Given the description of an element on the screen output the (x, y) to click on. 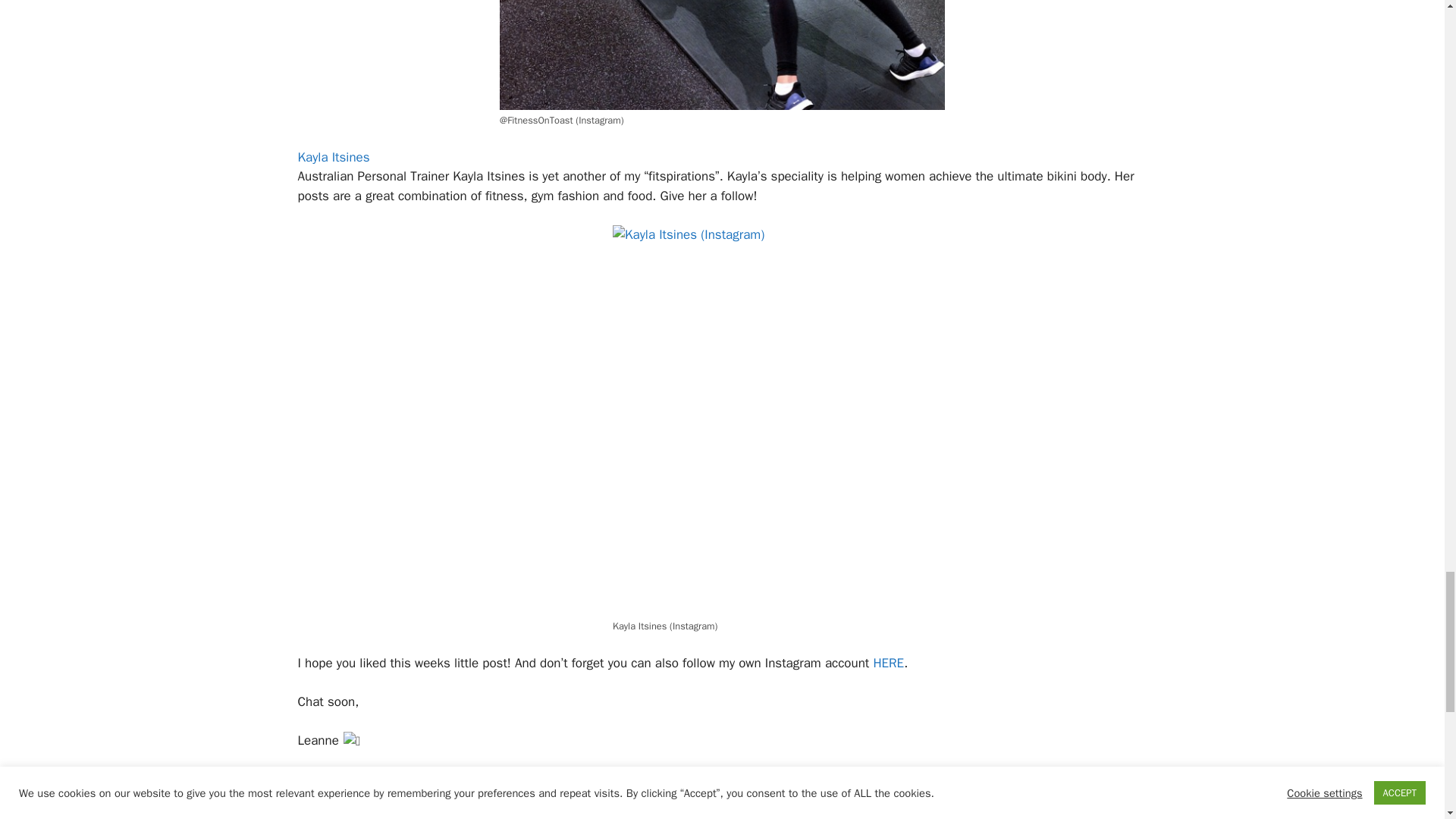
Click to print (430, 809)
Click to share on Twitter (339, 809)
Click to email a link to a friend (400, 809)
Click to share on Facebook (309, 809)
Click to share on Reddit (369, 809)
